Given the description of an element on the screen output the (x, y) to click on. 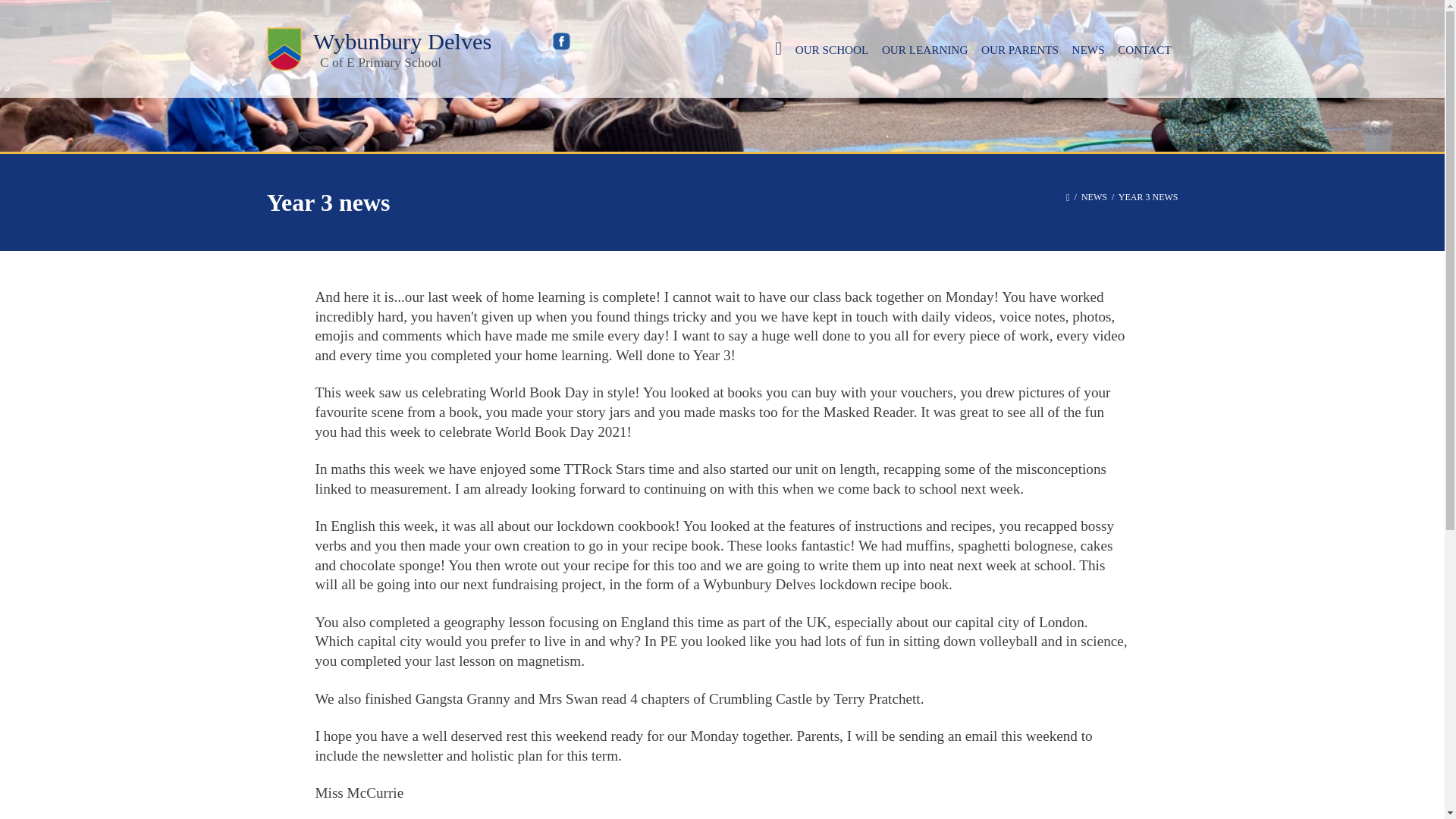
Visit our Facebook Page (560, 40)
OUR LEARNING (924, 48)
